Given the description of an element on the screen output the (x, y) to click on. 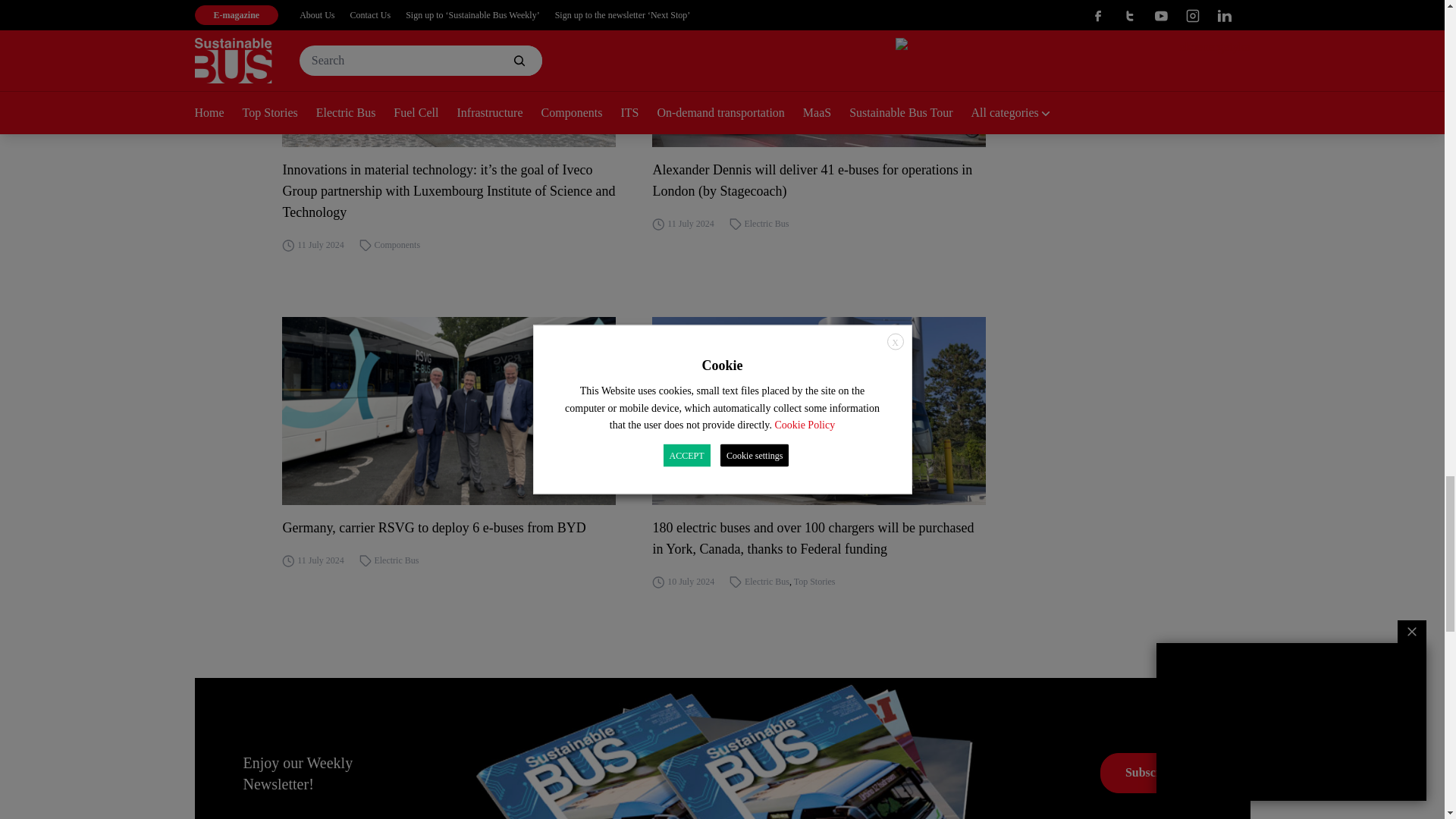
Germany, carrier RSVG to deploy 6 e-buses from BYD (448, 527)
Germany, carrier RSVG to deploy 6 e-buses from BYD (448, 410)
